Given the description of an element on the screen output the (x, y) to click on. 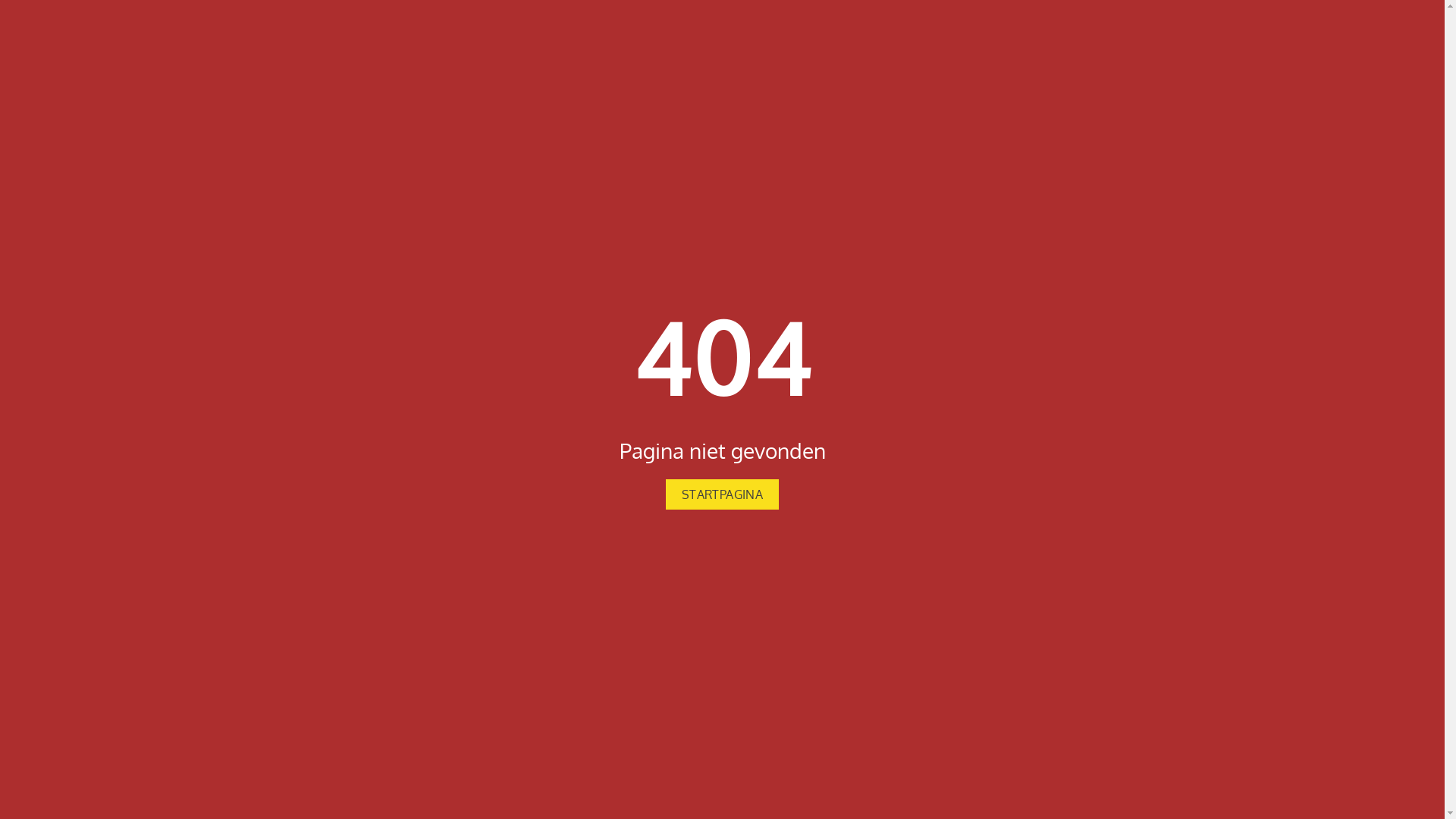
STARTPAGINA Element type: text (721, 494)
